Given the description of an element on the screen output the (x, y) to click on. 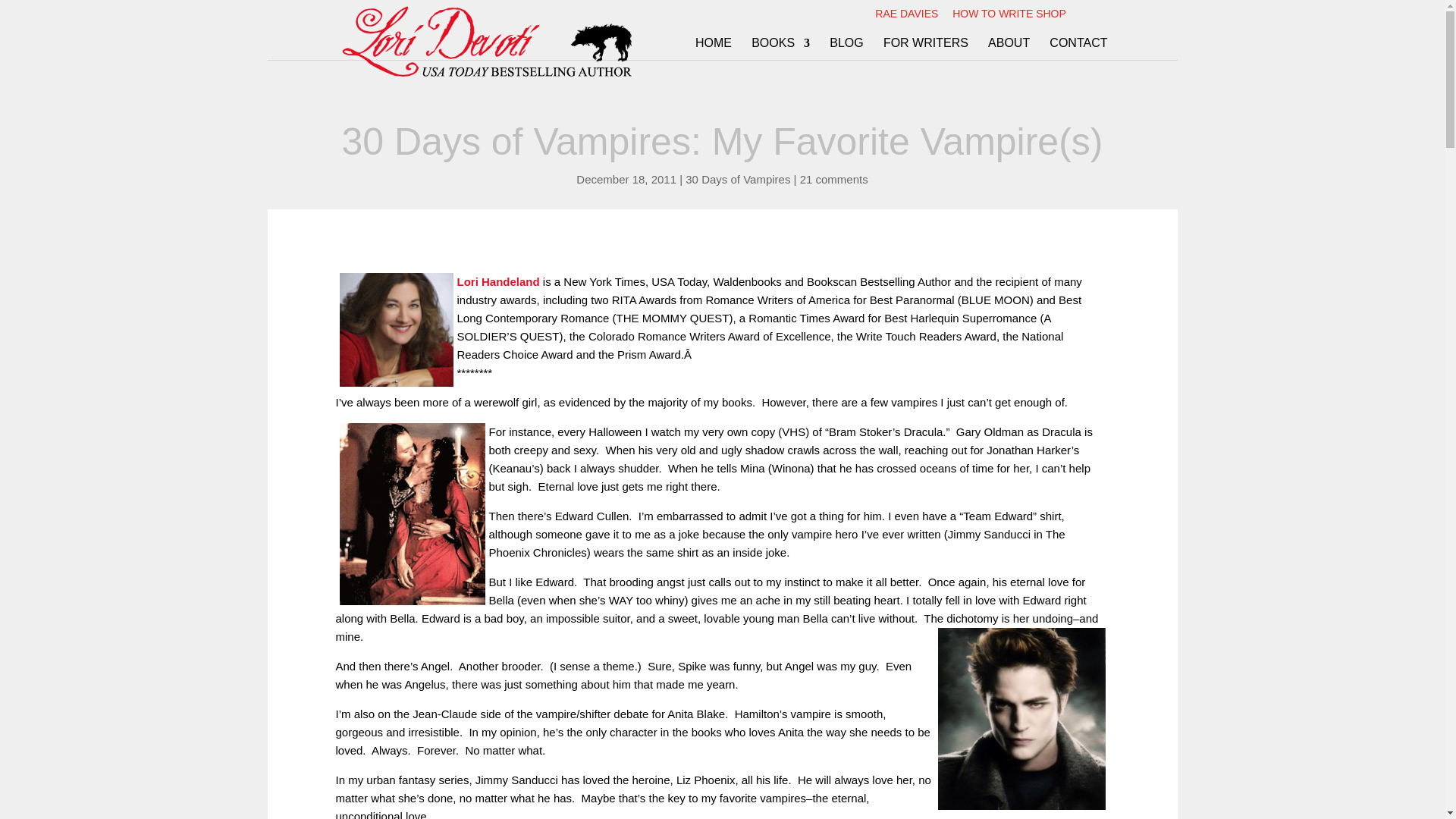
andeland (516, 281)
ABOUT (1008, 48)
HOME (713, 48)
RAE DAVIES (906, 16)
Lori H (473, 281)
21 comments (833, 178)
CONTACT (1077, 48)
Lori Handeland (395, 329)
30 Days of Vampires (737, 178)
HOW TO WRITE SHOP (1008, 16)
